Given the description of an element on the screen output the (x, y) to click on. 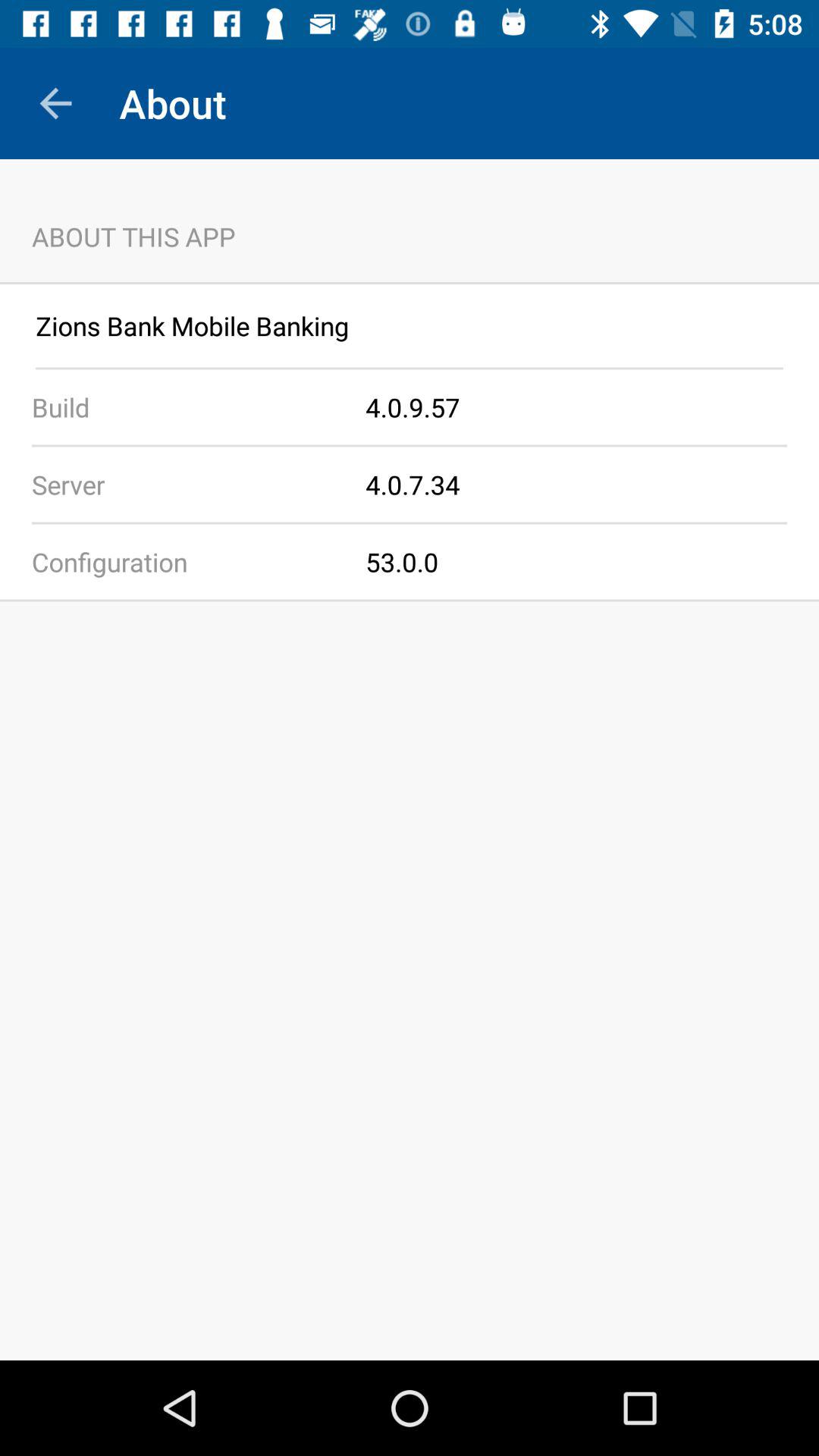
select the item next to the 53.0.0 icon (182, 561)
